Given the description of an element on the screen output the (x, y) to click on. 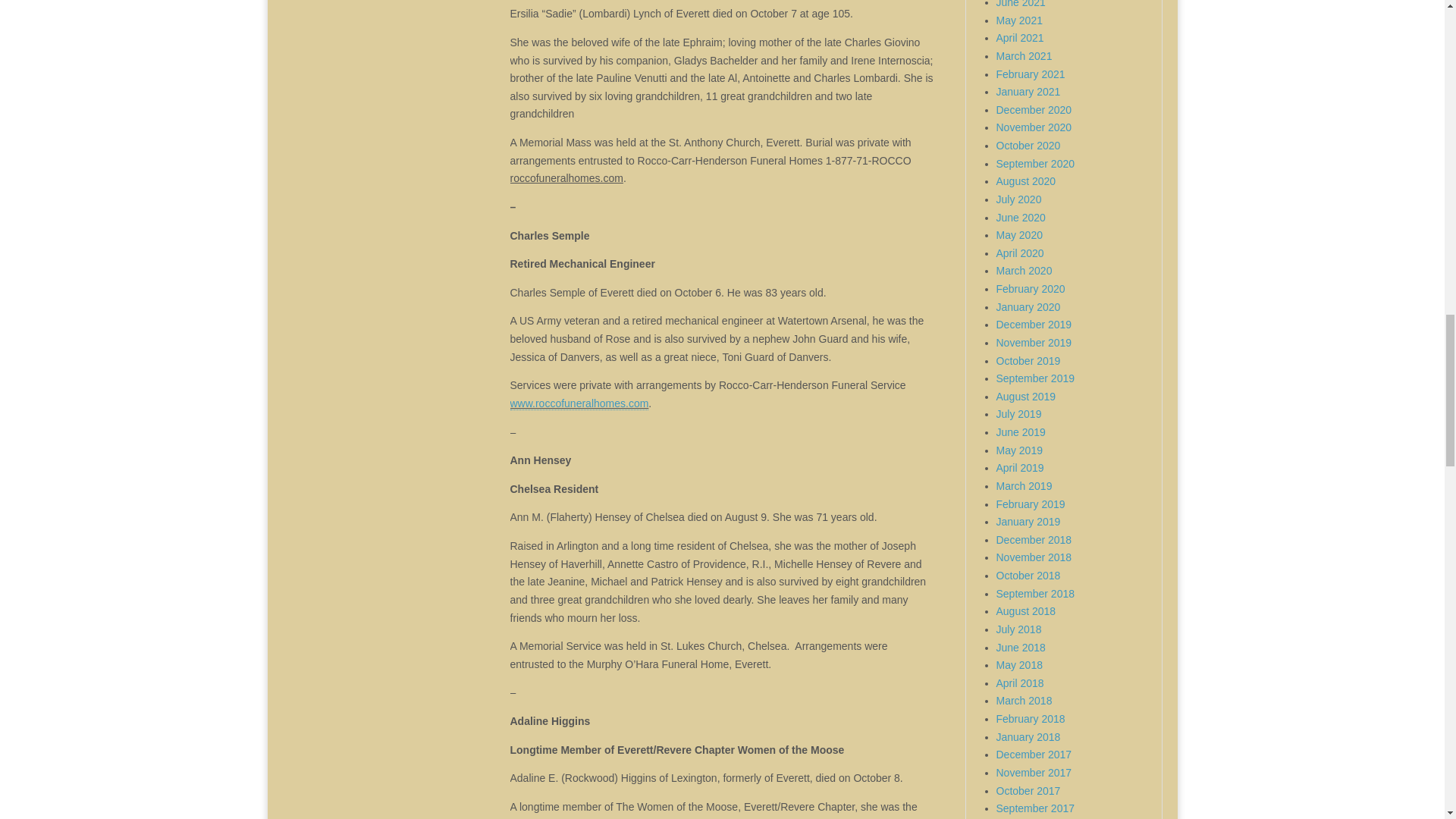
www.roccofuneralhomes.com (578, 403)
